Given the description of an element on the screen output the (x, y) to click on. 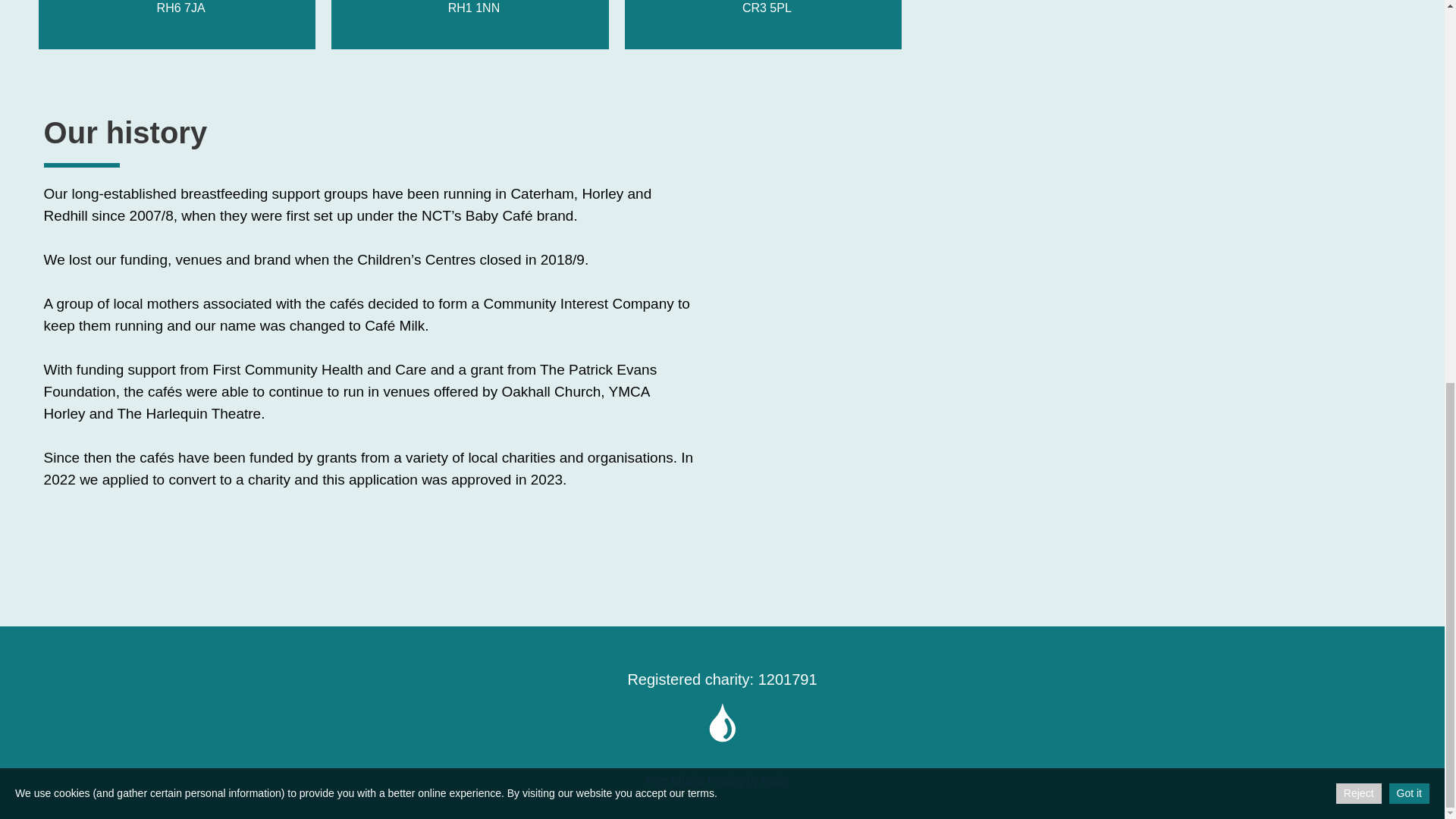
Free Charity Hosting by Kualo (716, 779)
Free Charity Hosting (716, 779)
Free Charity Hosting by Kualo (721, 758)
Free Charity Hosting (721, 758)
Reject (1358, 76)
Got it (1409, 76)
